Given the description of an element on the screen output the (x, y) to click on. 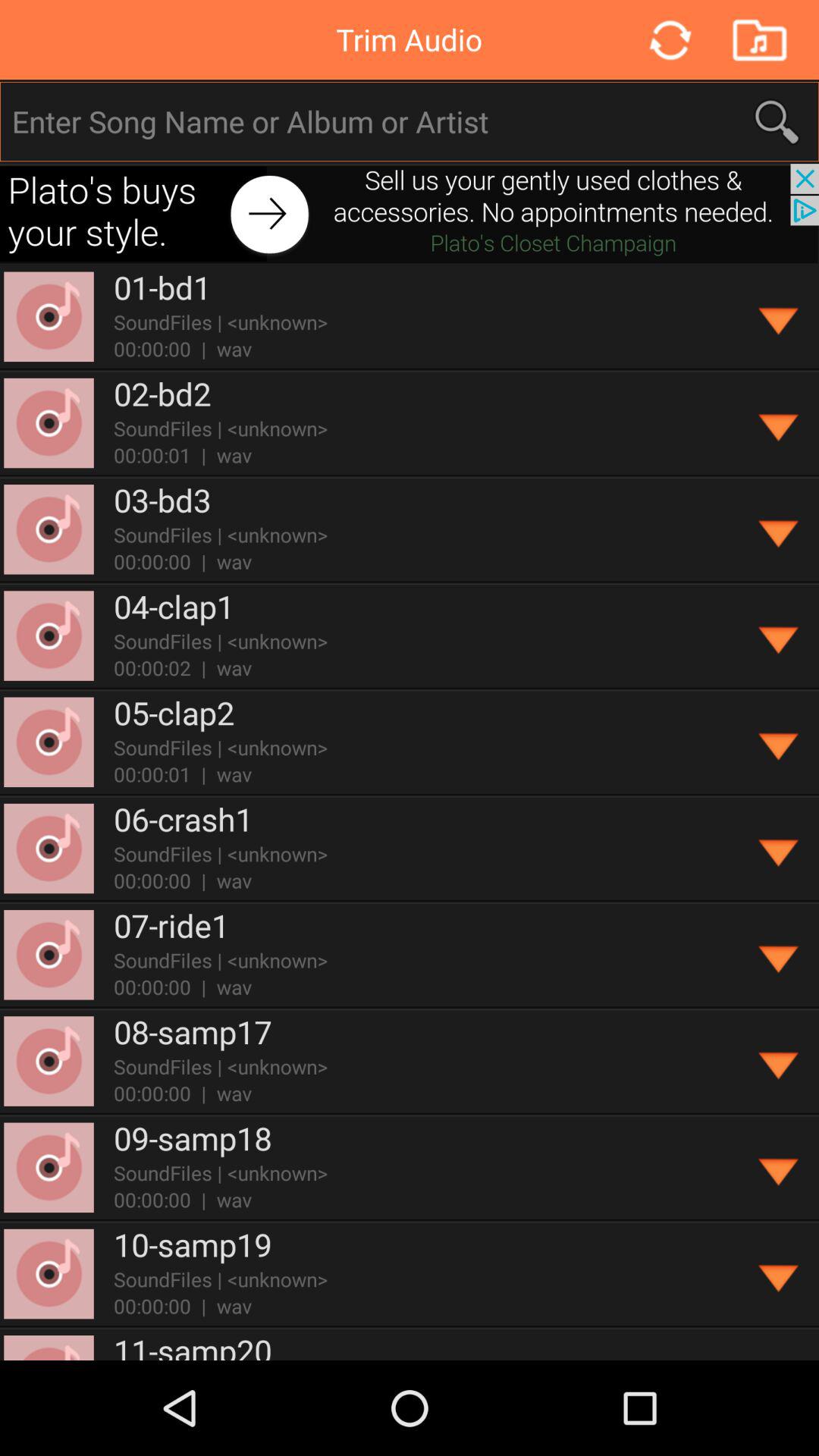
audio (759, 39)
